Given the description of an element on the screen output the (x, y) to click on. 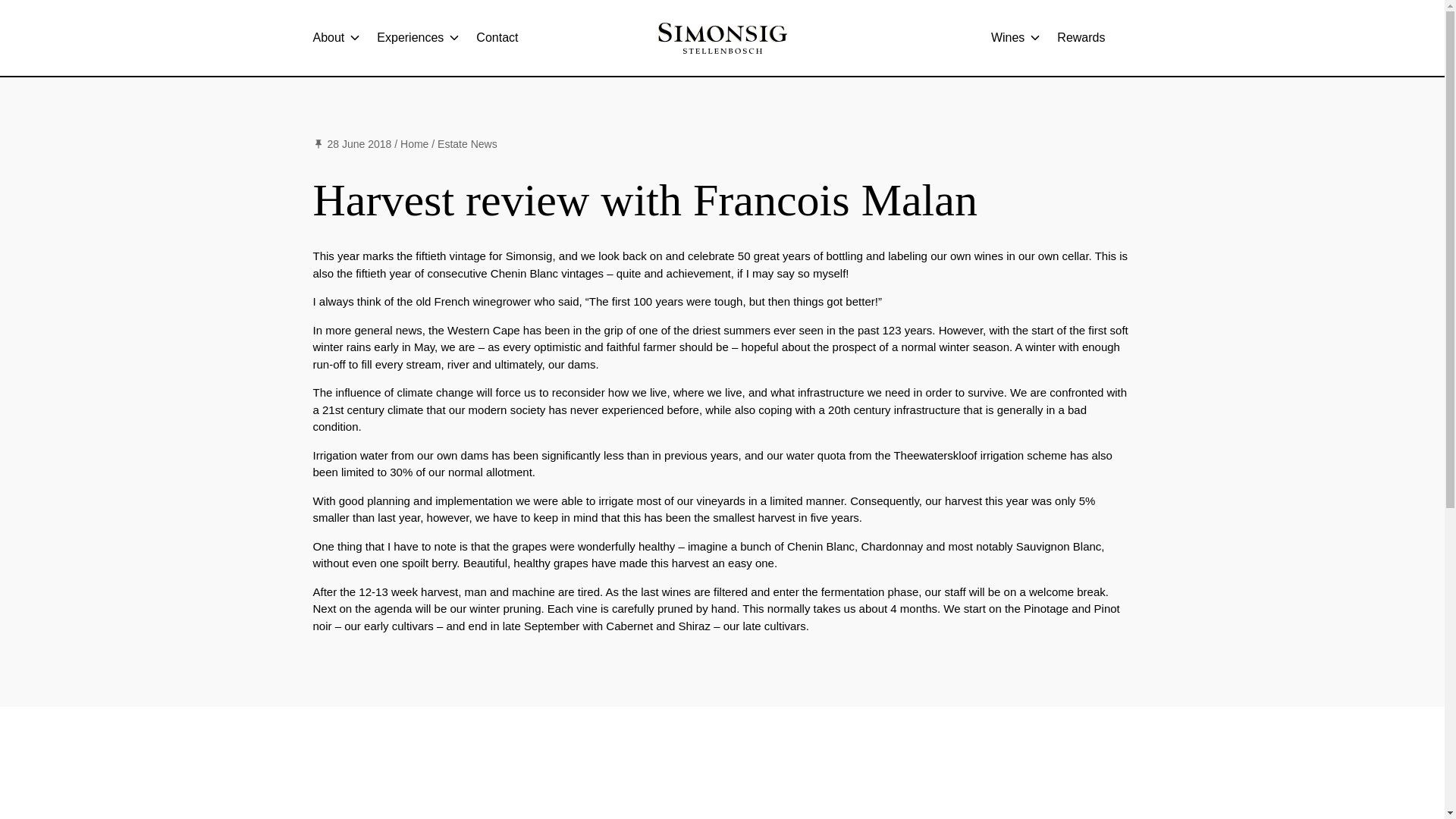
Post date (352, 143)
Contact (497, 37)
Wines (1016, 37)
About (337, 37)
Experiences (419, 37)
Rewards (1081, 37)
